Given the description of an element on the screen output the (x, y) to click on. 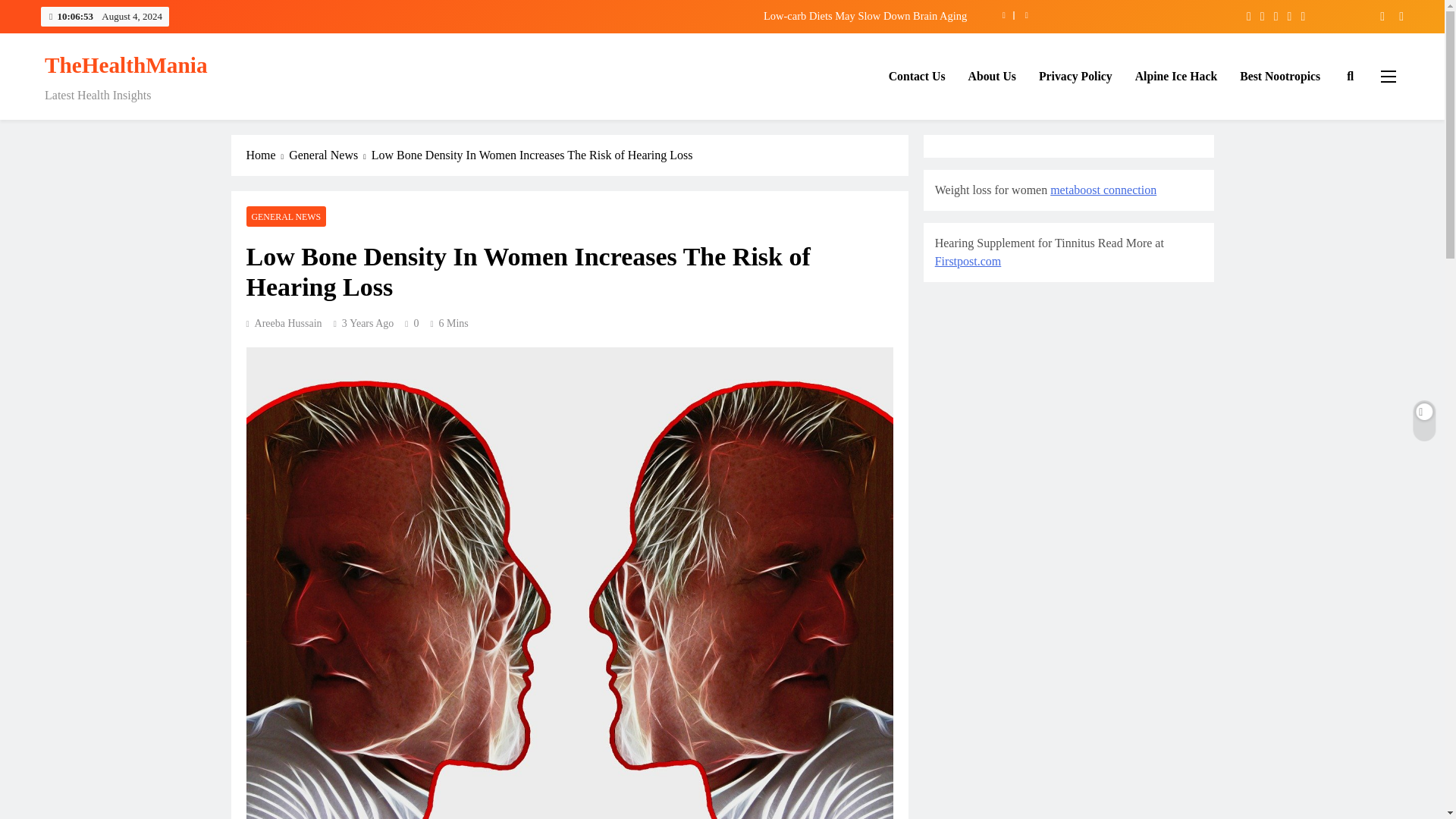
Low-carb Diets May Slow Down Brain Aging (639, 15)
Areeba Hussain (283, 323)
About Us (991, 76)
Best Nootropics (1280, 76)
General News (329, 155)
3 Years Ago (368, 323)
TheHealthMania (126, 64)
GENERAL NEWS (286, 216)
Privacy Policy (1075, 76)
Alpine Ice Hack (1176, 76)
Low-carb Diets May Slow Down Brain Aging (639, 15)
Contact Us (916, 76)
Home (267, 155)
